Given the description of an element on the screen output the (x, y) to click on. 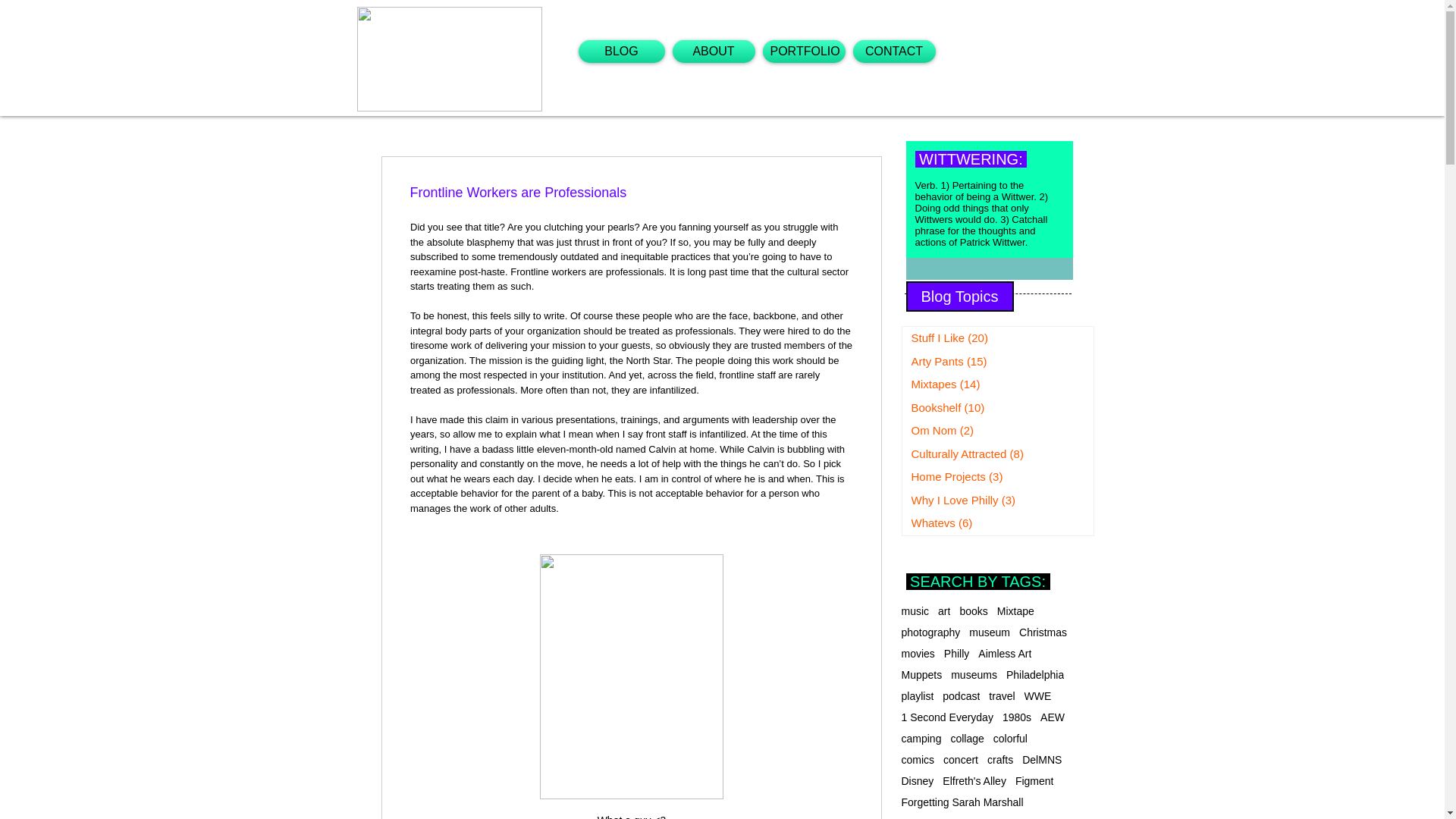
museums (973, 674)
Muppets (921, 674)
museum (989, 632)
Aimless Art (1004, 653)
books (973, 611)
music (914, 611)
art (943, 611)
photography (930, 632)
CONTACT (893, 51)
Mixtape (1015, 611)
